Given the description of an element on the screen output the (x, y) to click on. 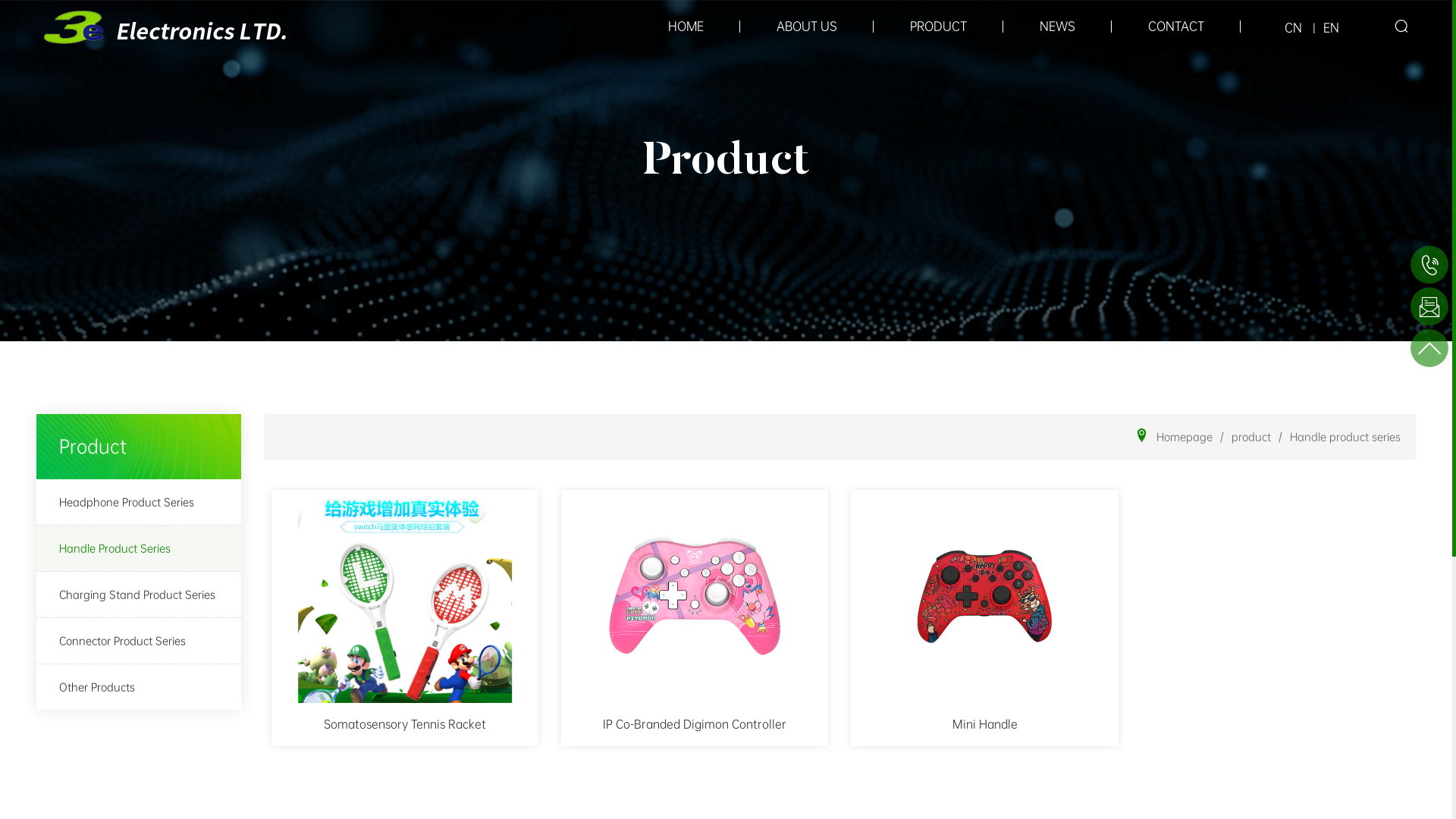
HOME Element type: text (685, 26)
PRODUCT Element type: text (938, 26)
product Element type: text (1250, 436)
Connector Product Series Element type: text (138, 641)
Handle Product Series Element type: text (138, 548)
IP Co-Branded Digimon Controller Element type: text (694, 617)
EN Element type: text (1331, 28)
ABOUT US Element type: text (806, 26)
CN Element type: text (1293, 28)
Mini Handle Element type: text (983, 617)
Other Products Element type: text (138, 686)
CONTACT Element type: text (1175, 26)
IP Co-branded Digimon Controller Element type: hover (695, 596)
mini handle Element type: hover (985, 596)
Charging Stand Product Series Element type: text (138, 594)
NEWS Element type: text (1057, 26)
Somatosensory tennis racket Element type: hover (405, 596)
Somatosensory Tennis Racket Element type: text (404, 617)
Headphone Product Series Element type: text (138, 502)
